Given the description of an element on the screen output the (x, y) to click on. 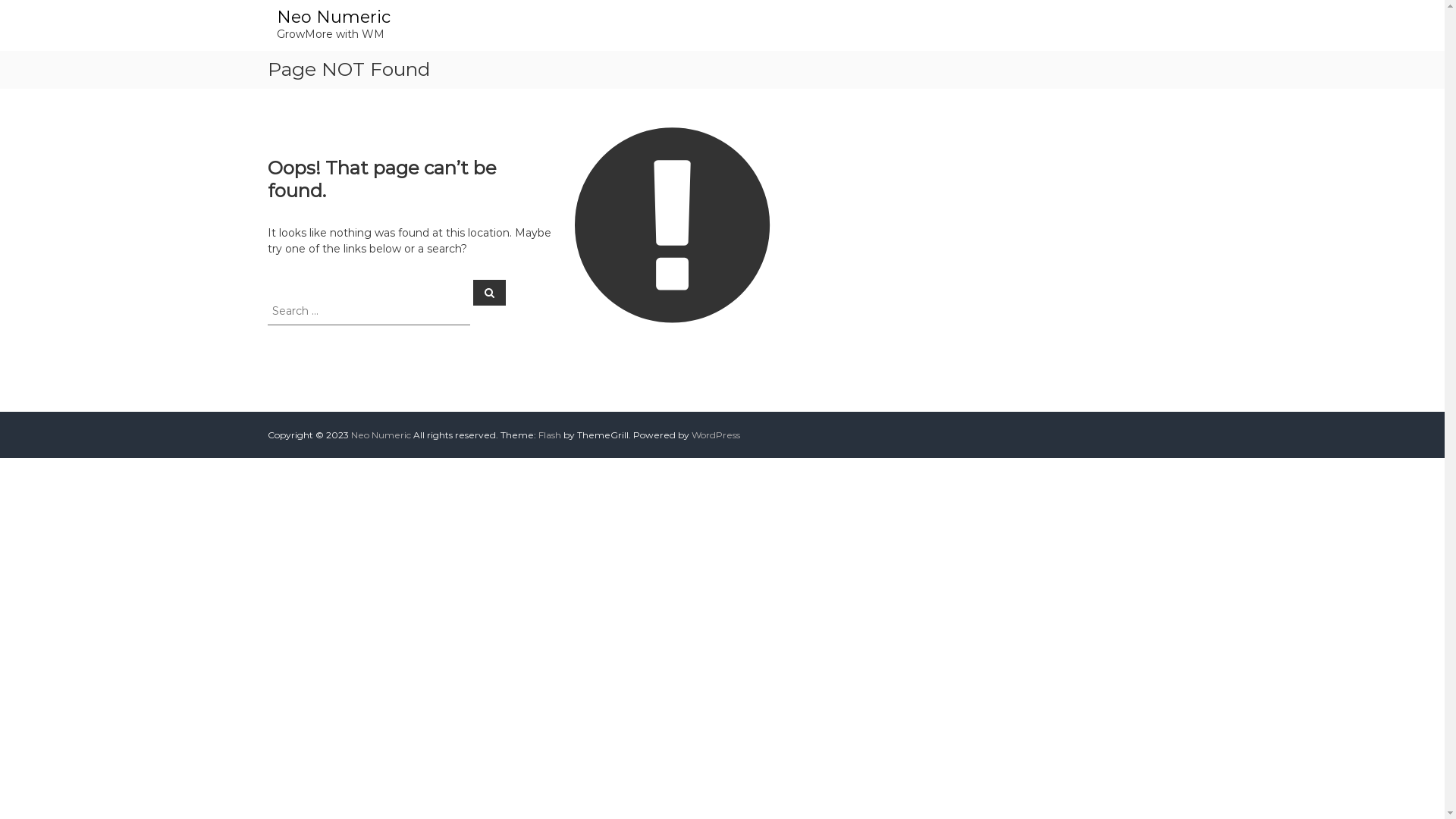
Neo Numeric Element type: text (332, 16)
Search Element type: text (489, 291)
Neo Numeric Element type: text (380, 434)
Flash Element type: text (549, 434)
WordPress Element type: text (715, 434)
